Given the description of an element on the screen output the (x, y) to click on. 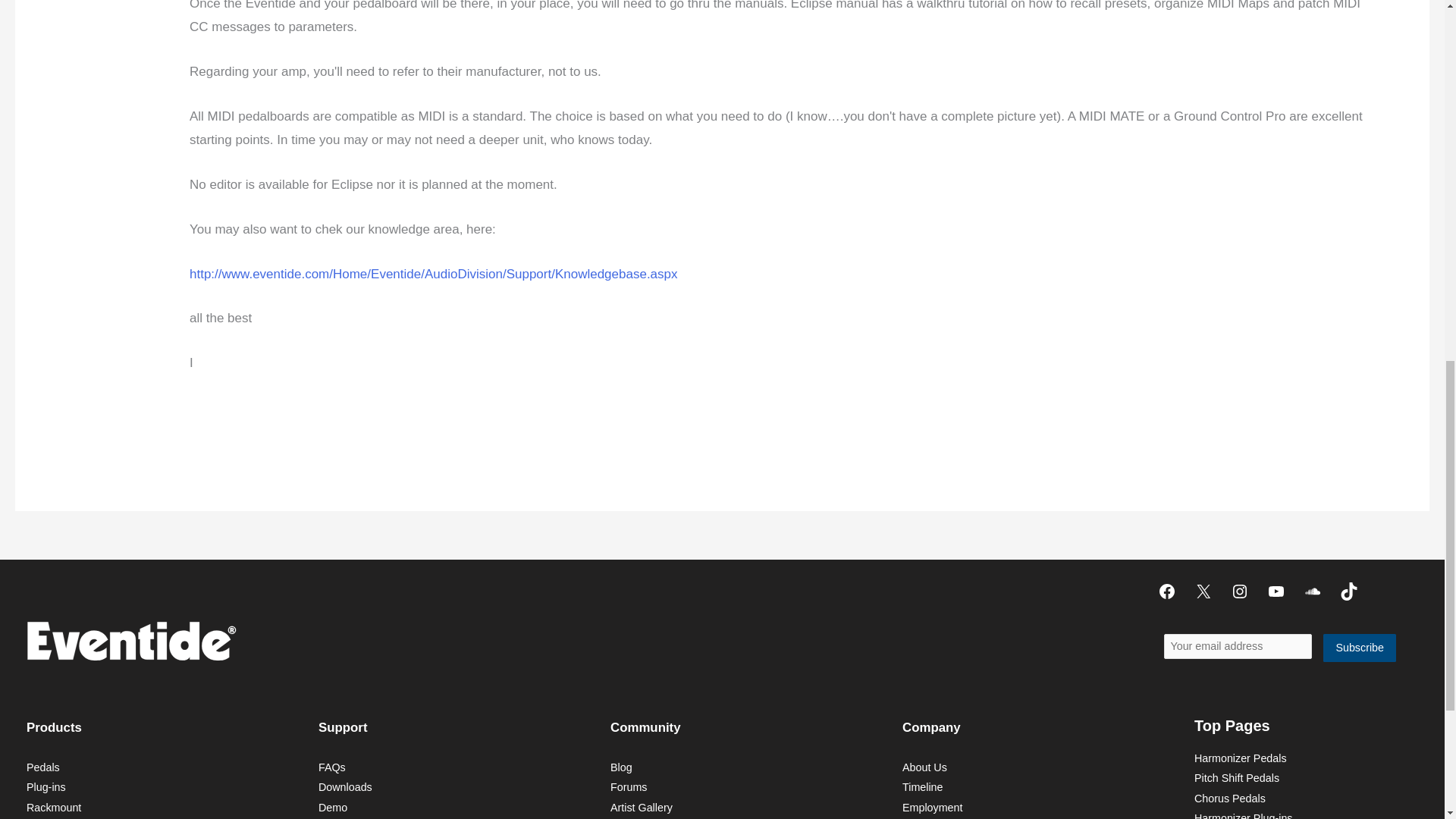
eventide-logo-white (130, 640)
Subscribe (1359, 647)
